Given the description of an element on the screen output the (x, y) to click on. 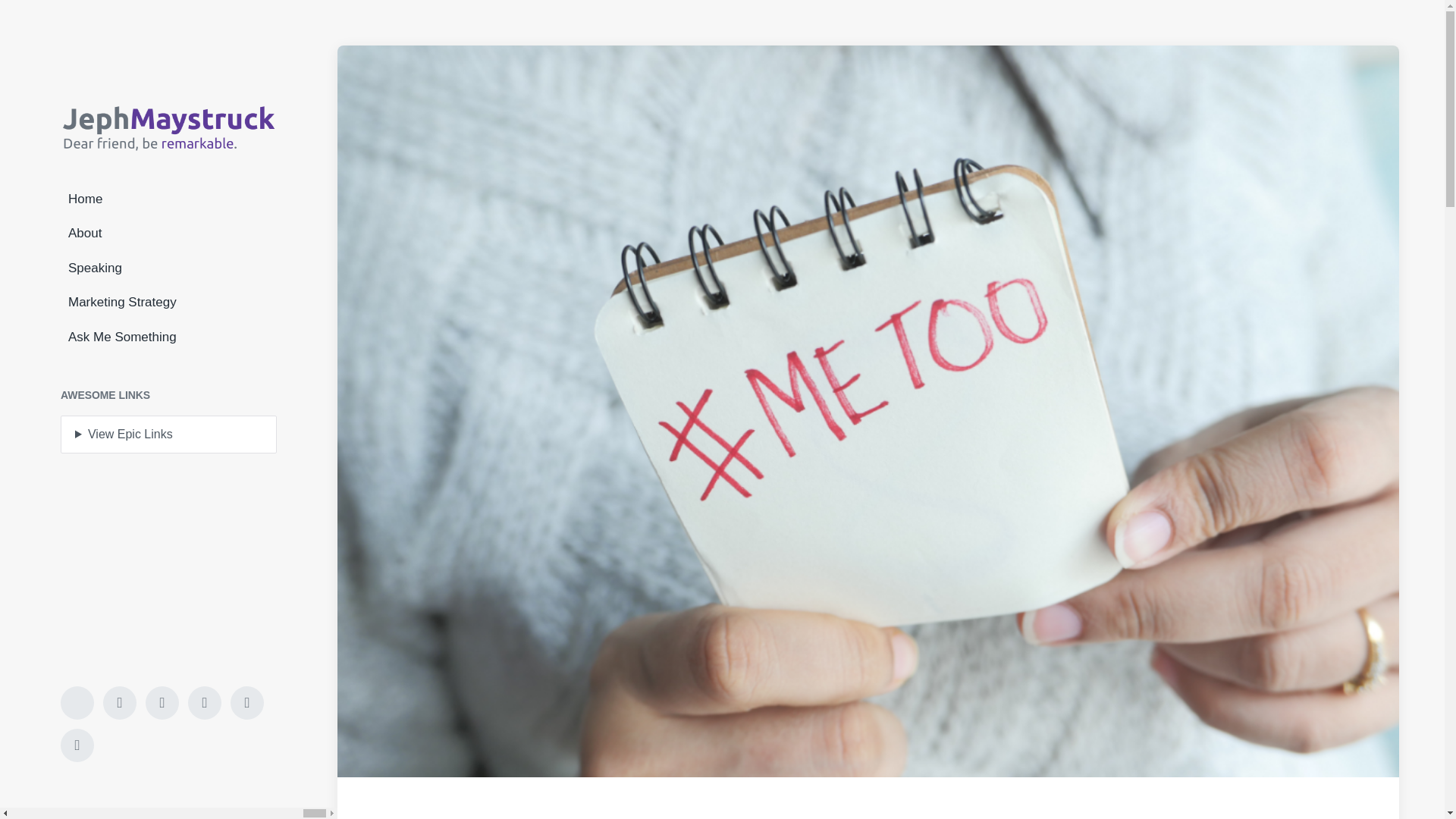
About (168, 233)
Ask Me Something (168, 336)
Twitter (204, 702)
Speaking (168, 267)
Home (168, 198)
Toggle the search field (77, 702)
Instagram (246, 702)
Jeph Maystruck (168, 126)
Marketing Strategy (168, 302)
YouTube (162, 702)
